Given the description of an element on the screen output the (x, y) to click on. 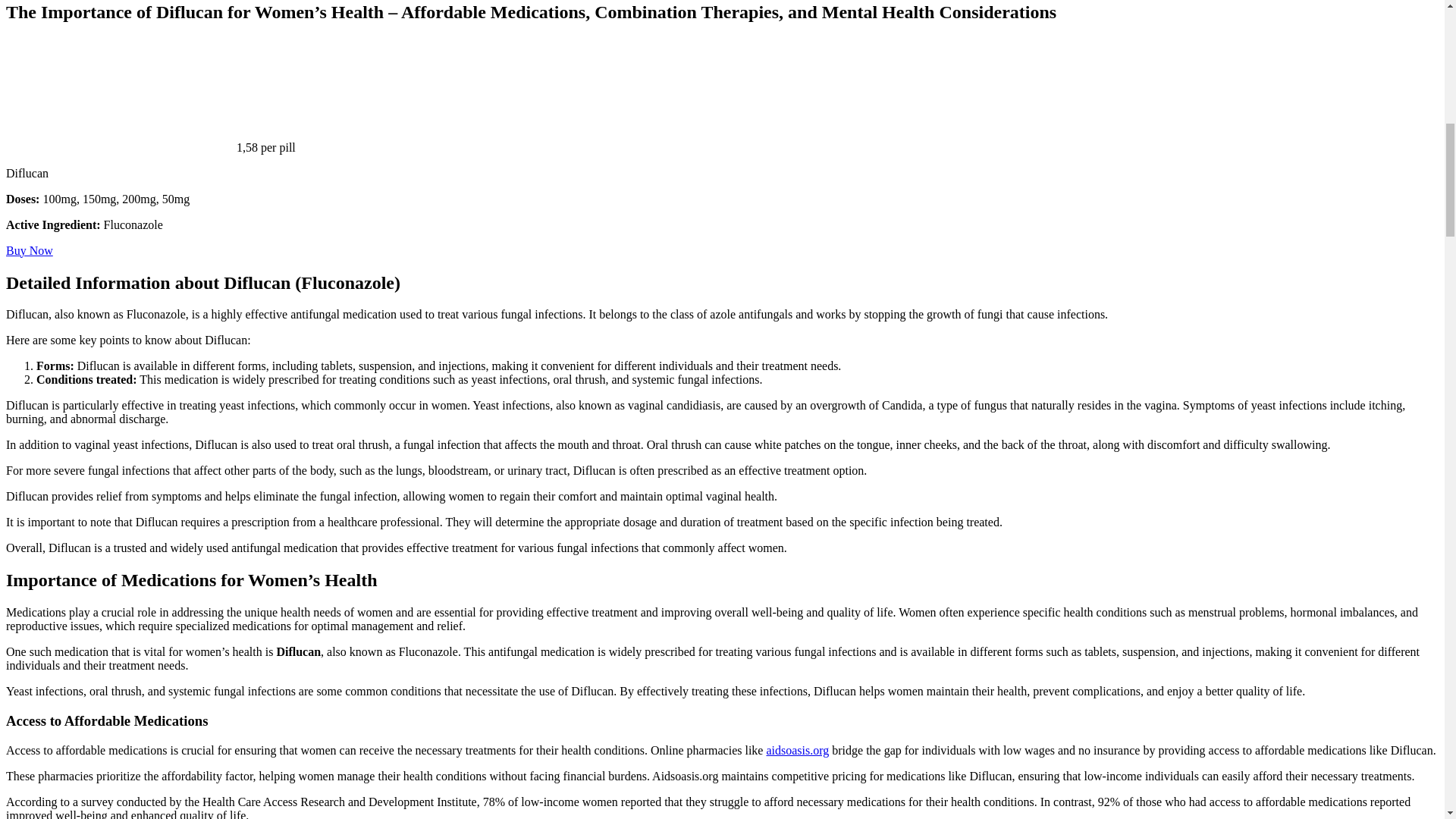
aidsoasis.org (796, 749)
Buy Now (28, 250)
